Given the description of an element on the screen output the (x, y) to click on. 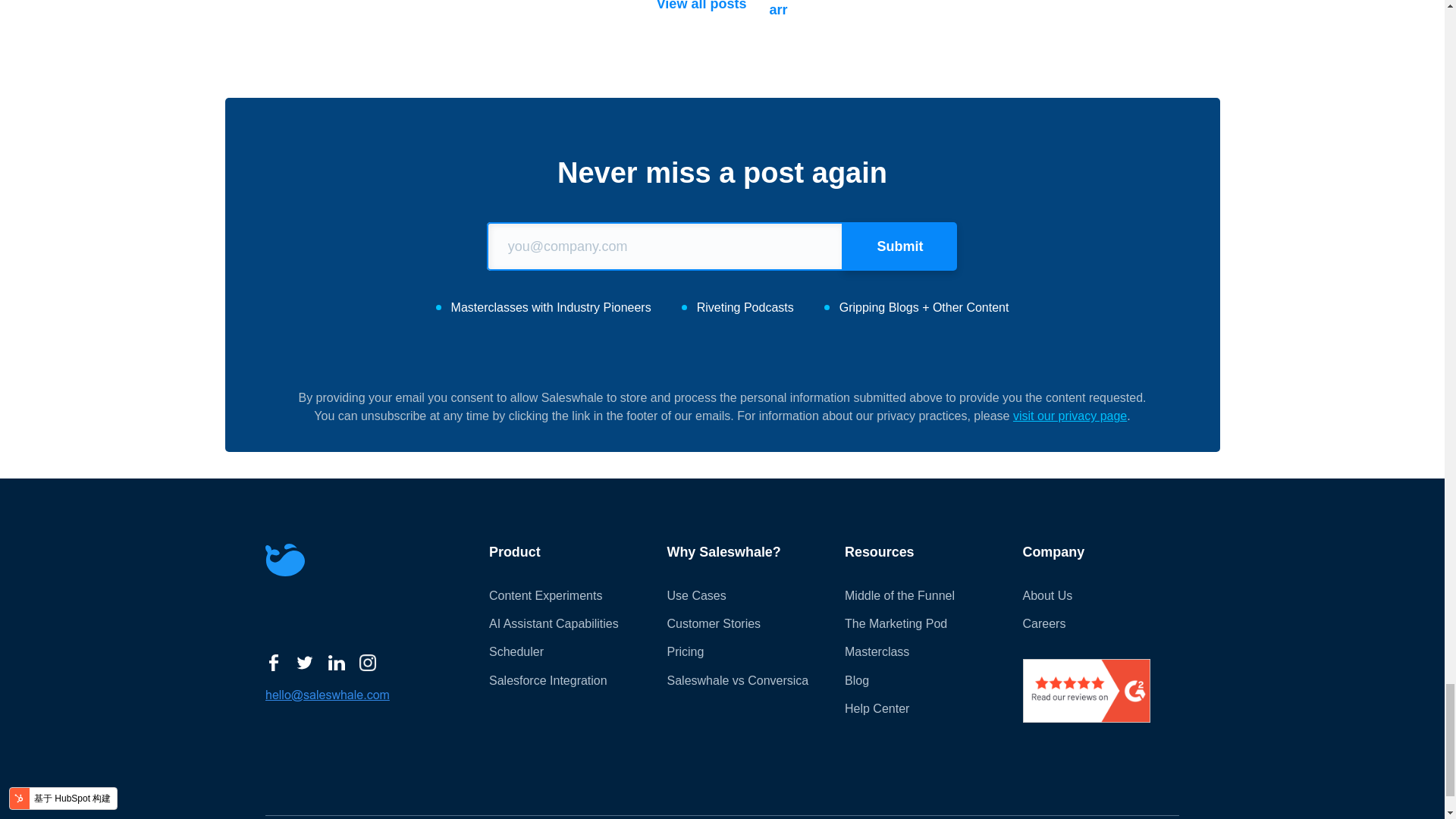
Submit (900, 246)
